Given the description of an element on the screen output the (x, y) to click on. 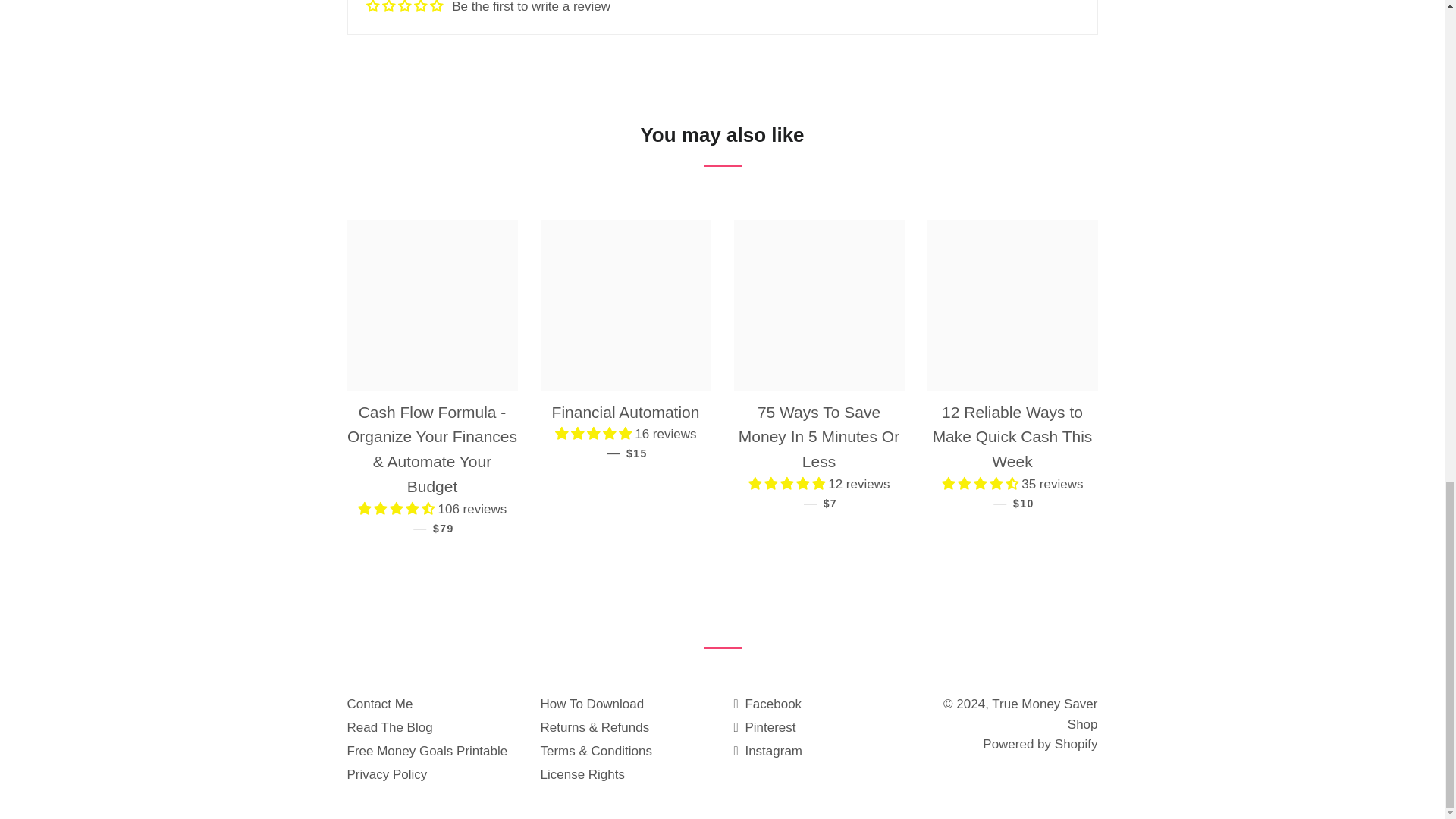
True Money Saver Shop on Pinterest (764, 727)
True Money Saver Shop on Instagram (768, 750)
True Money Saver Shop on Facebook (767, 703)
